Given the description of an element on the screen output the (x, y) to click on. 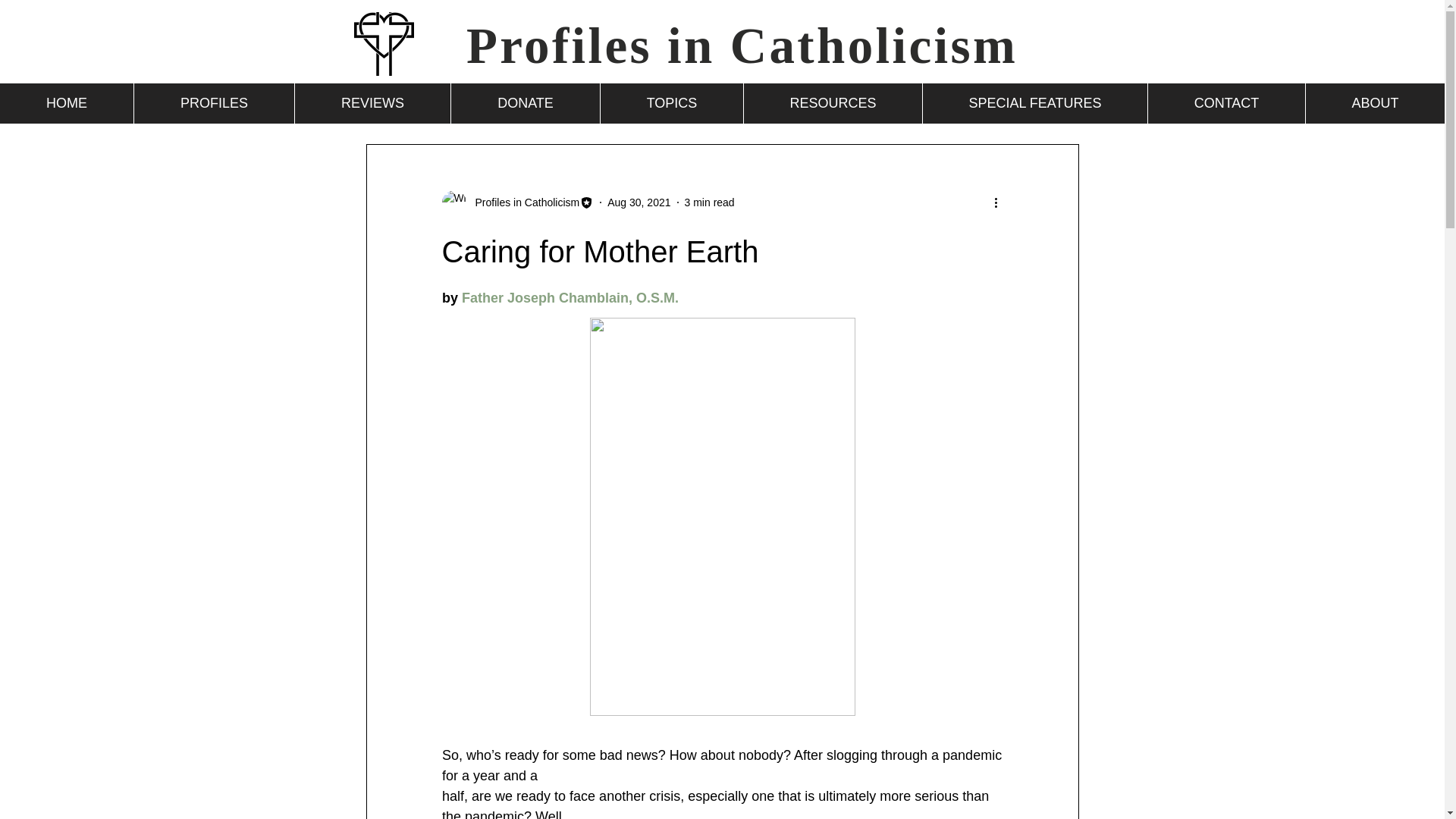
3 min read (709, 202)
DONATE (524, 103)
Profiles in Catholicism (522, 202)
TOPICS (670, 103)
Profiles in Catholicism (741, 45)
profiles in catholism (383, 44)
HOME (66, 103)
CONTACT (1225, 103)
Aug 30, 2021 (638, 202)
Father Joseph Chamblain, O.S.M. (569, 297)
